Given the description of an element on the screen output the (x, y) to click on. 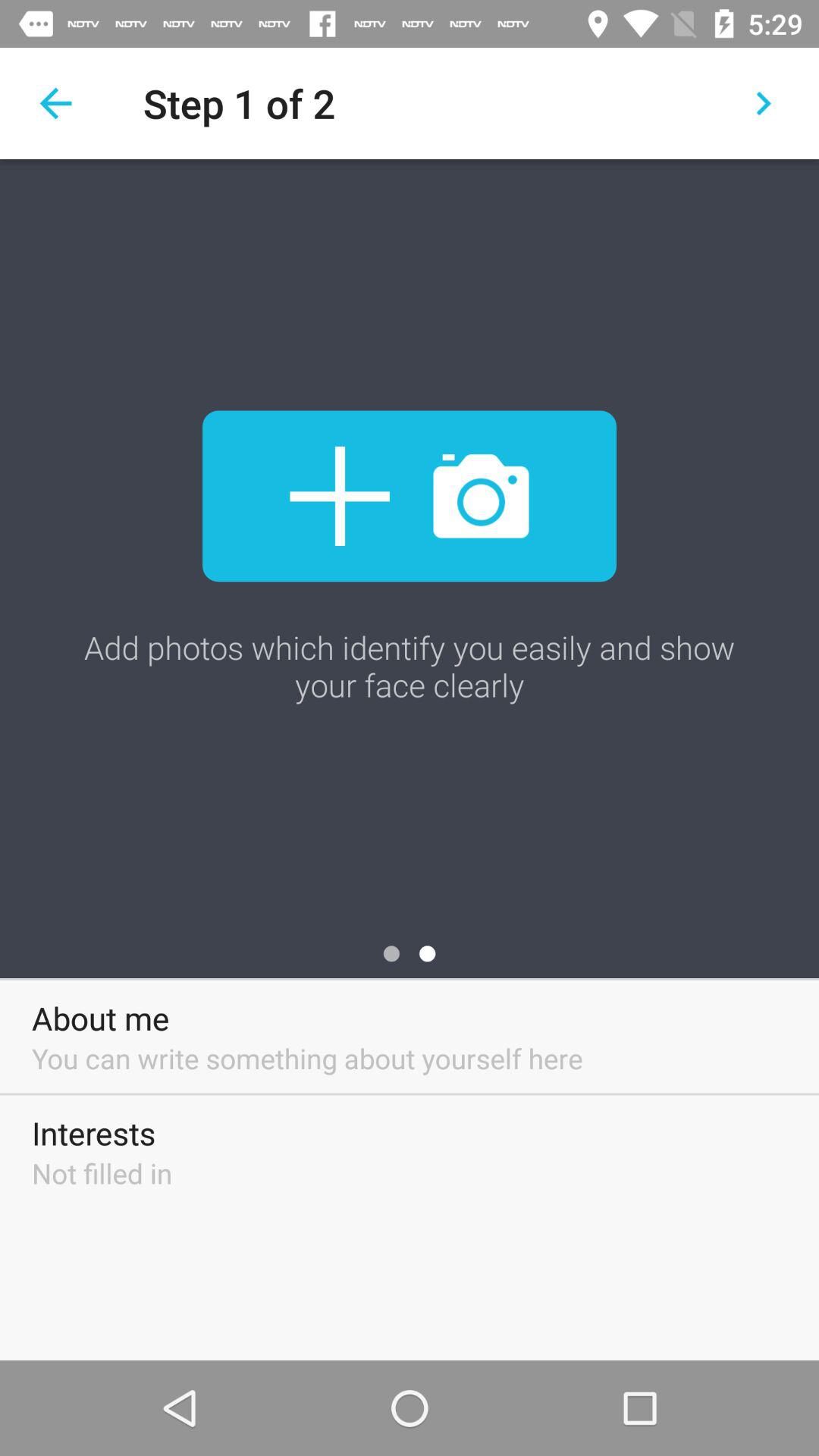
turn off the icon above the add photos which icon (763, 103)
